Given the description of an element on the screen output the (x, y) to click on. 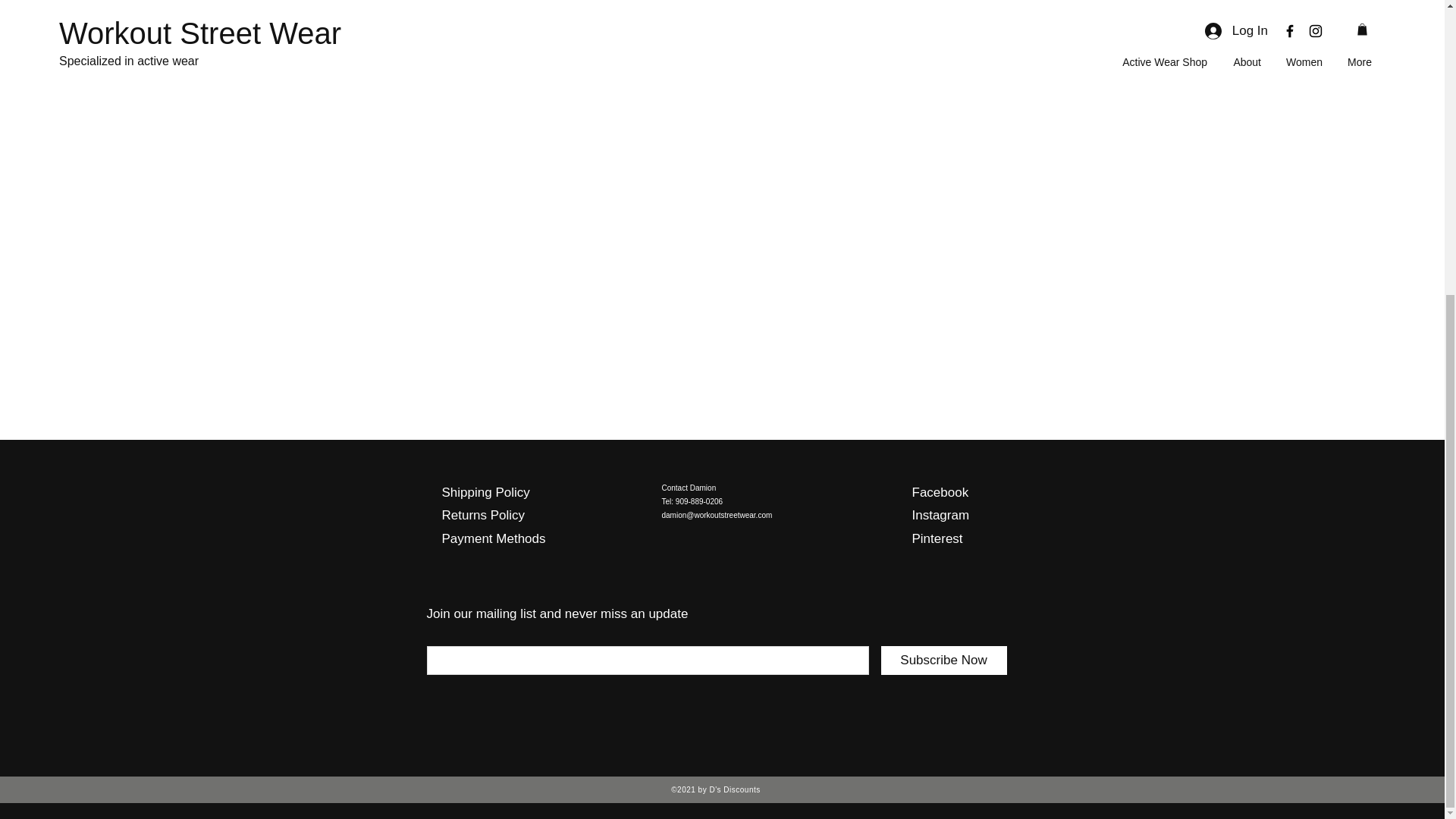
Pinterest (936, 538)
Subscribe Now (943, 660)
Shipping Policy (485, 492)
Facebook (939, 492)
Payment Methods (492, 538)
Returns Policy (482, 514)
Join our mailing list and never miss an update (556, 613)
Instagram (940, 514)
